Given the description of an element on the screen output the (x, y) to click on. 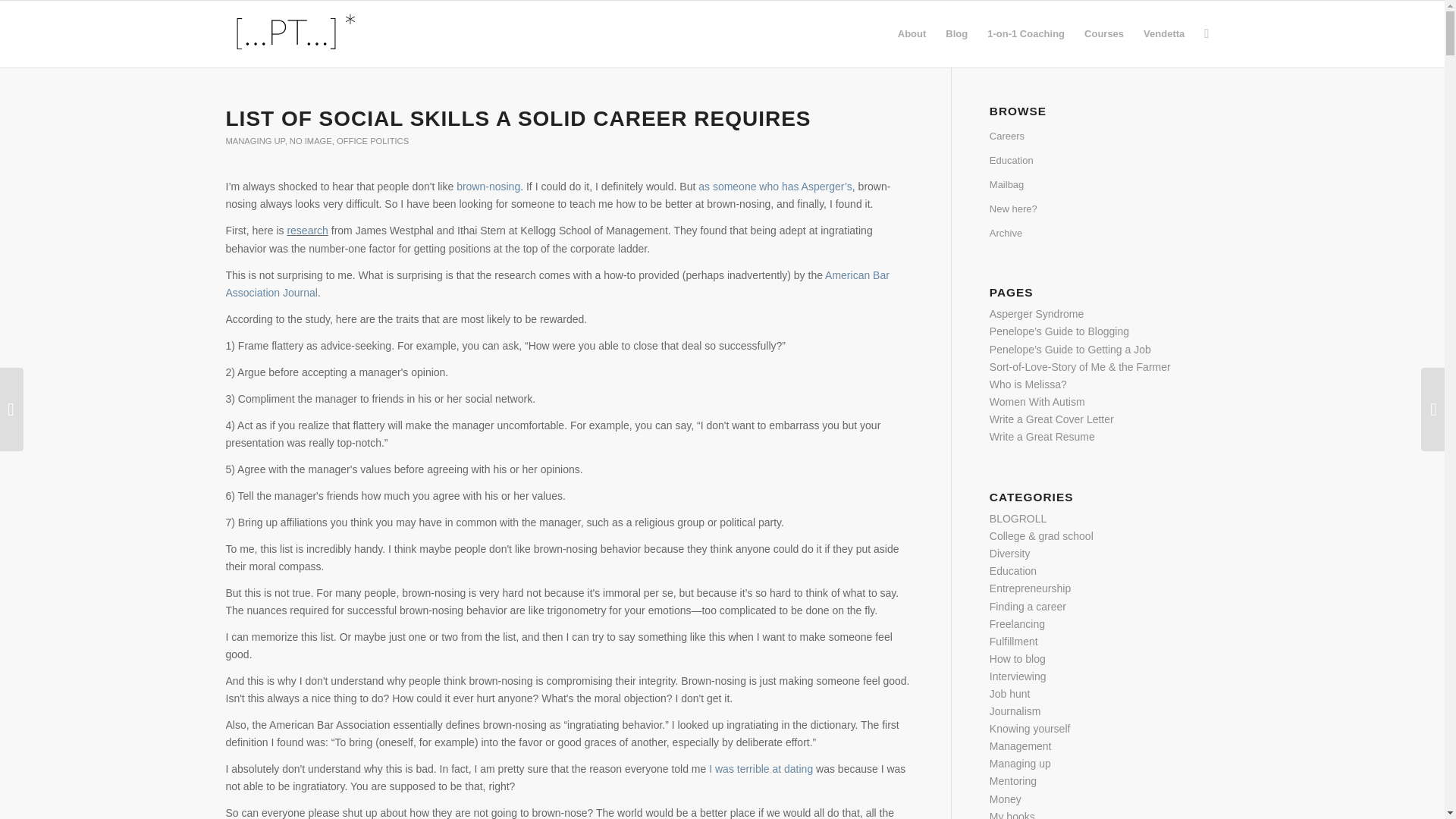
American Bar Association Journal (557, 283)
brown-nosing (488, 186)
Vendetta (1163, 33)
I was terrible at dating (760, 768)
NO IMAGE (310, 140)
MANAGING UP (255, 140)
research (306, 230)
OFFICE POLITICS (372, 140)
1-on-1 Coaching (1025, 33)
